Given the description of an element on the screen output the (x, y) to click on. 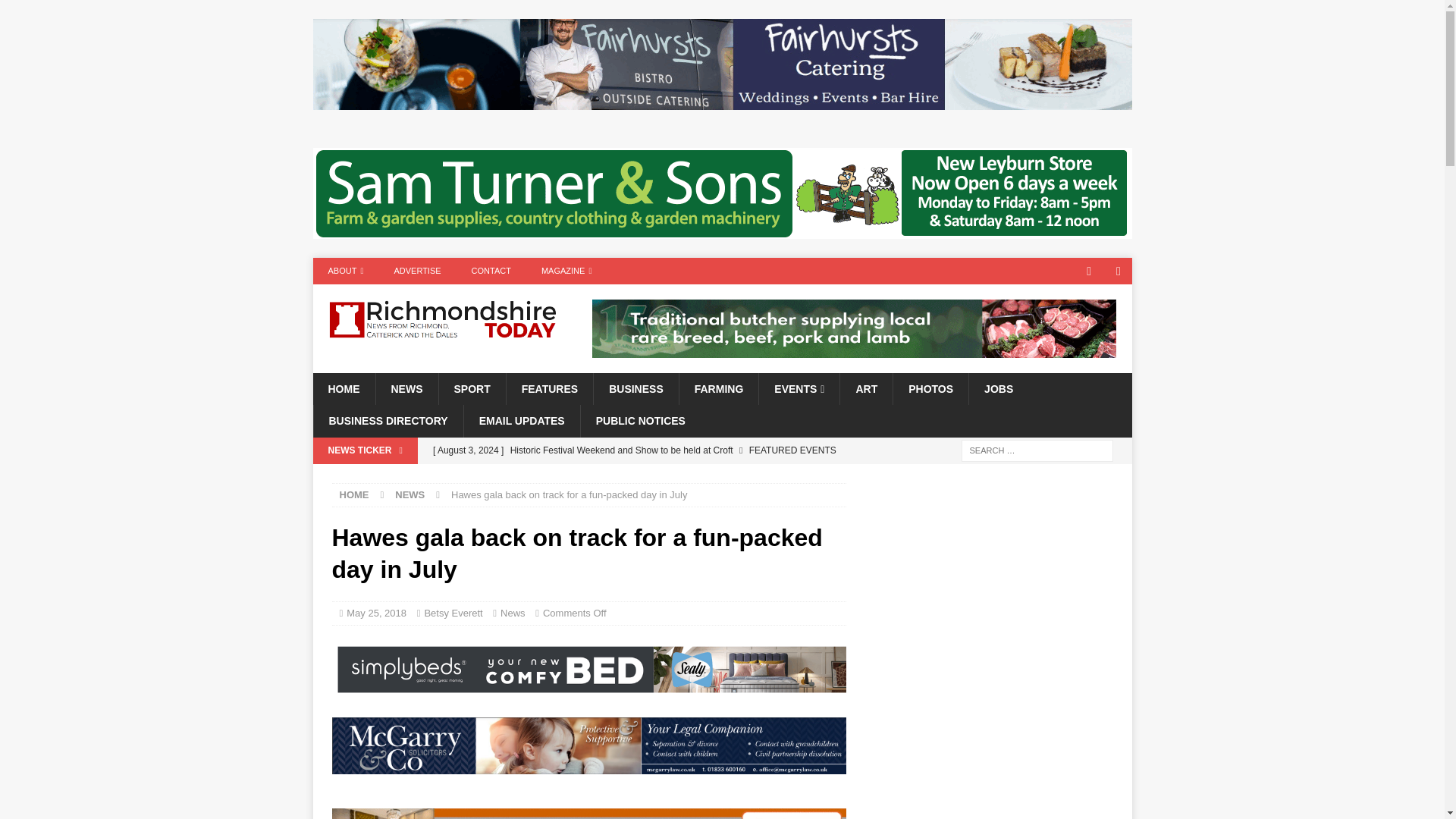
HOME (343, 388)
EMAIL UPDATES (521, 420)
FEATURES (548, 388)
CONTACT (491, 270)
ADVERTISE (416, 270)
BUSINESS DIRECTORY (388, 420)
ABOUT (345, 270)
Search (56, 11)
Wensleydale School students sail to Norway (634, 475)
EVENTS (799, 388)
FARMING (718, 388)
SPORT (471, 388)
MAGAZINE (566, 270)
BUSINESS (635, 388)
JOBS (997, 388)
